Given the description of an element on the screen output the (x, y) to click on. 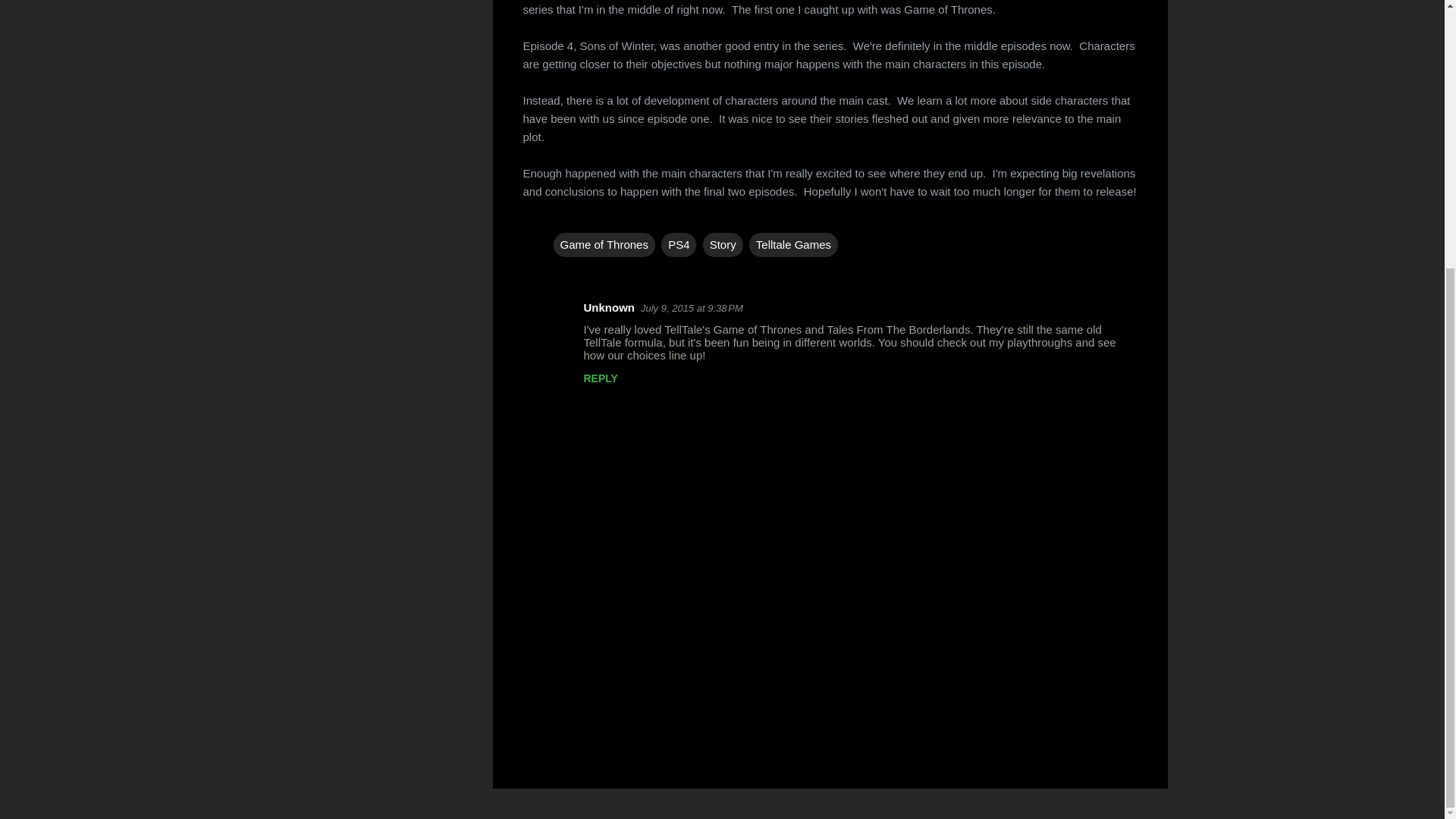
Unknown (608, 307)
Telltale Games (793, 244)
Story (722, 244)
PS4 (678, 244)
REPLY (600, 378)
Game of Thrones (604, 244)
